Given the description of an element on the screen output the (x, y) to click on. 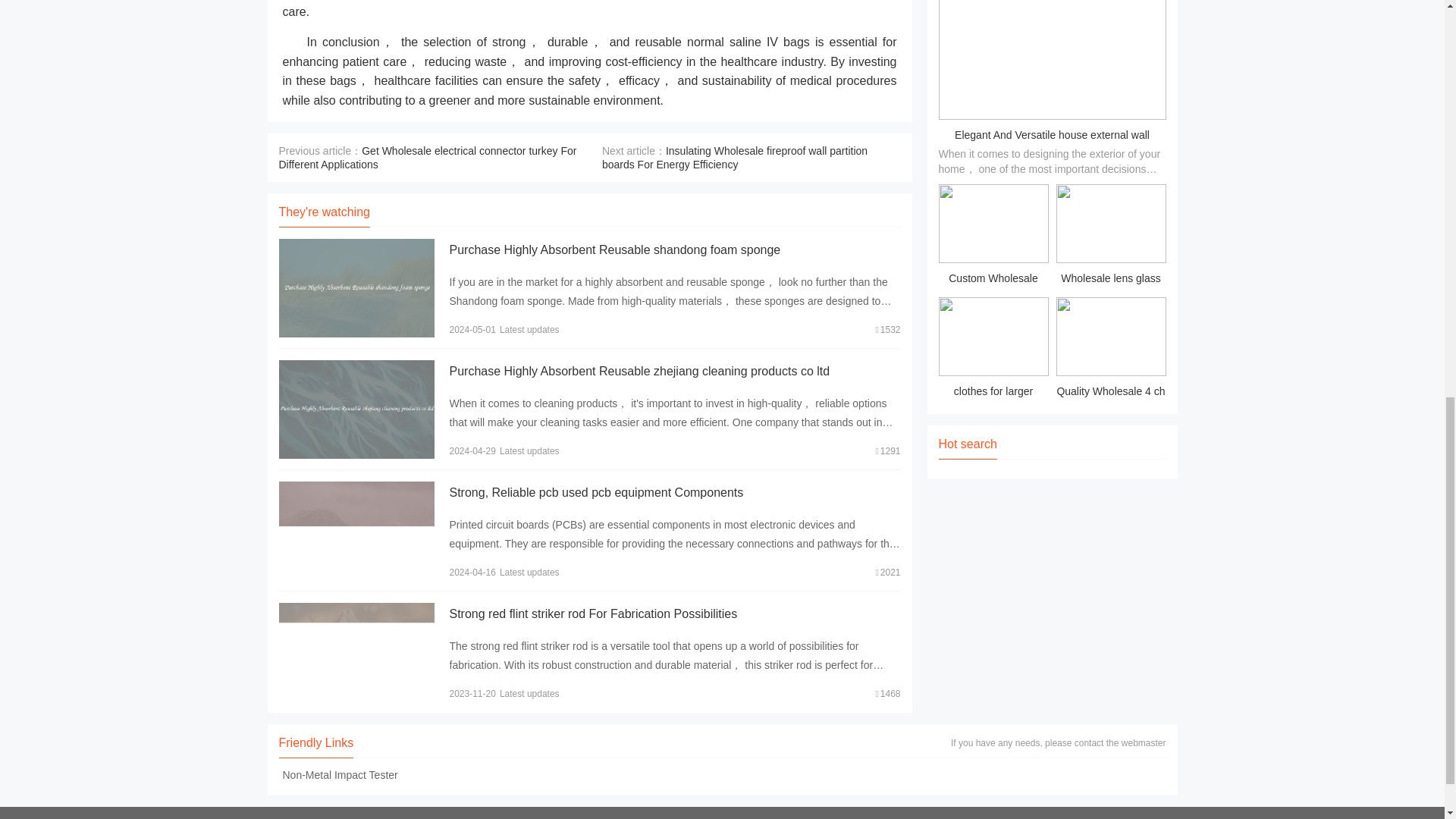
Purchase Highly Absorbent Reusable shandong foam sponge (614, 249)
Quality Wholesale 4 ch amp At A Great Bargain (1110, 349)
Strong red flint striker rod For Fabrication Possibilities (592, 613)
Non-Metal Impact Tester (340, 775)
